Given the description of an element on the screen output the (x, y) to click on. 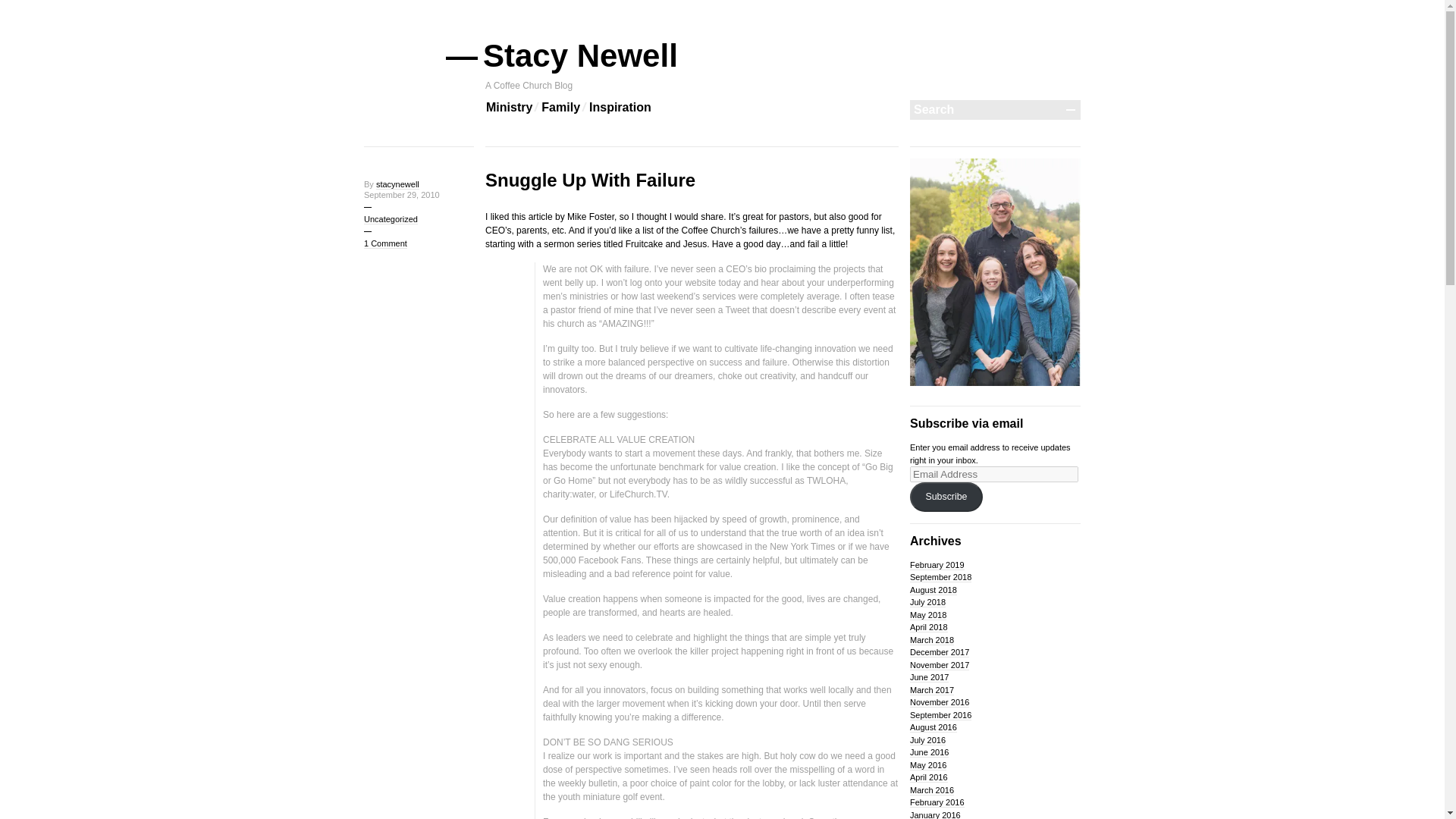
September 29, 2010 (401, 194)
November 2017 (939, 665)
August 2016 (933, 727)
March 2017 (931, 690)
Inspiration (619, 107)
1 Comment (385, 243)
March 2016 (931, 790)
Ministry (509, 107)
May 2018 (928, 614)
June 2016 (929, 752)
